Given the description of an element on the screen output the (x, y) to click on. 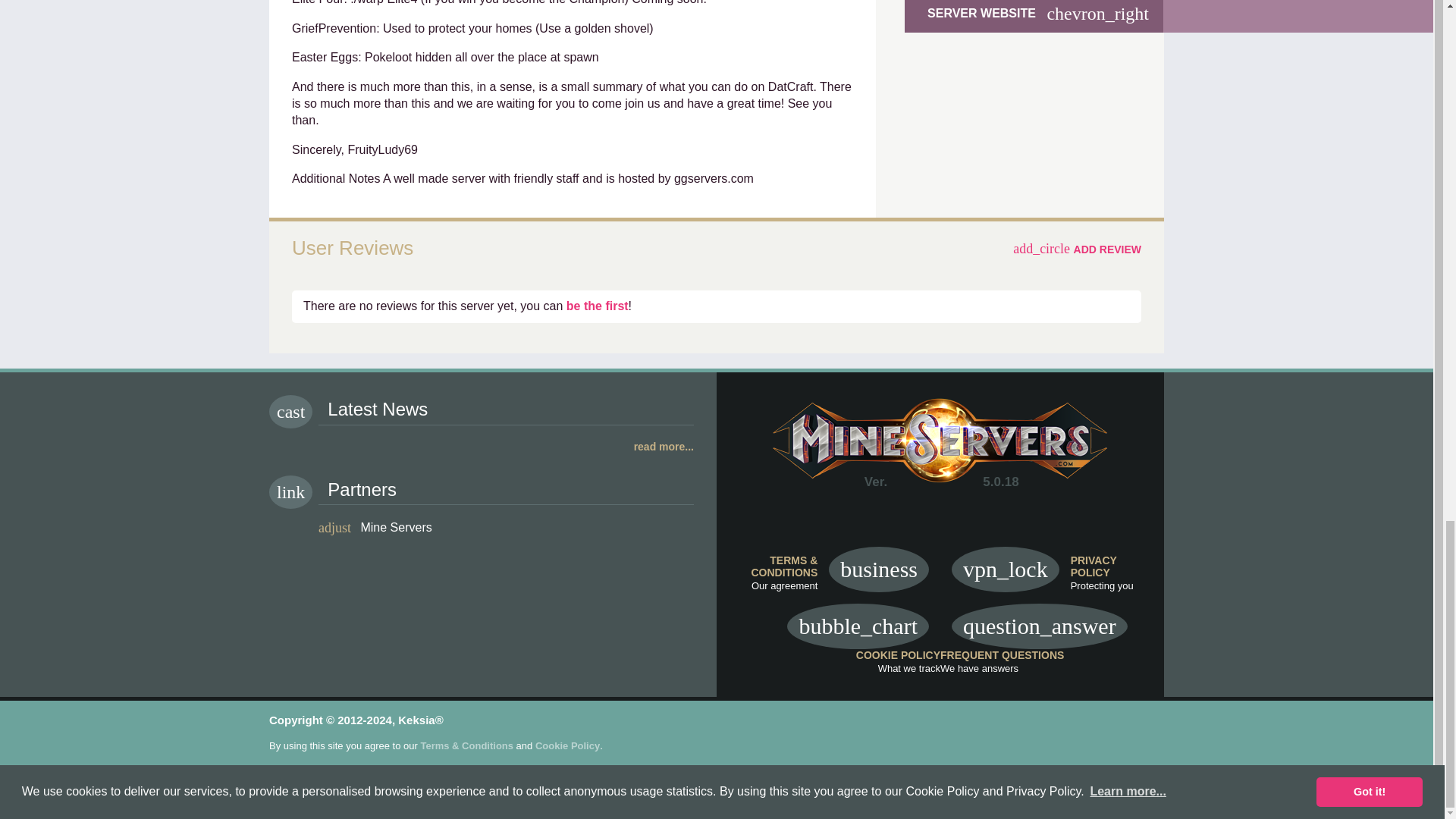
adjust Mine Servers (375, 526)
read more... (481, 446)
be the first (597, 305)
Cookie Policy (567, 745)
